Given the description of an element on the screen output the (x, y) to click on. 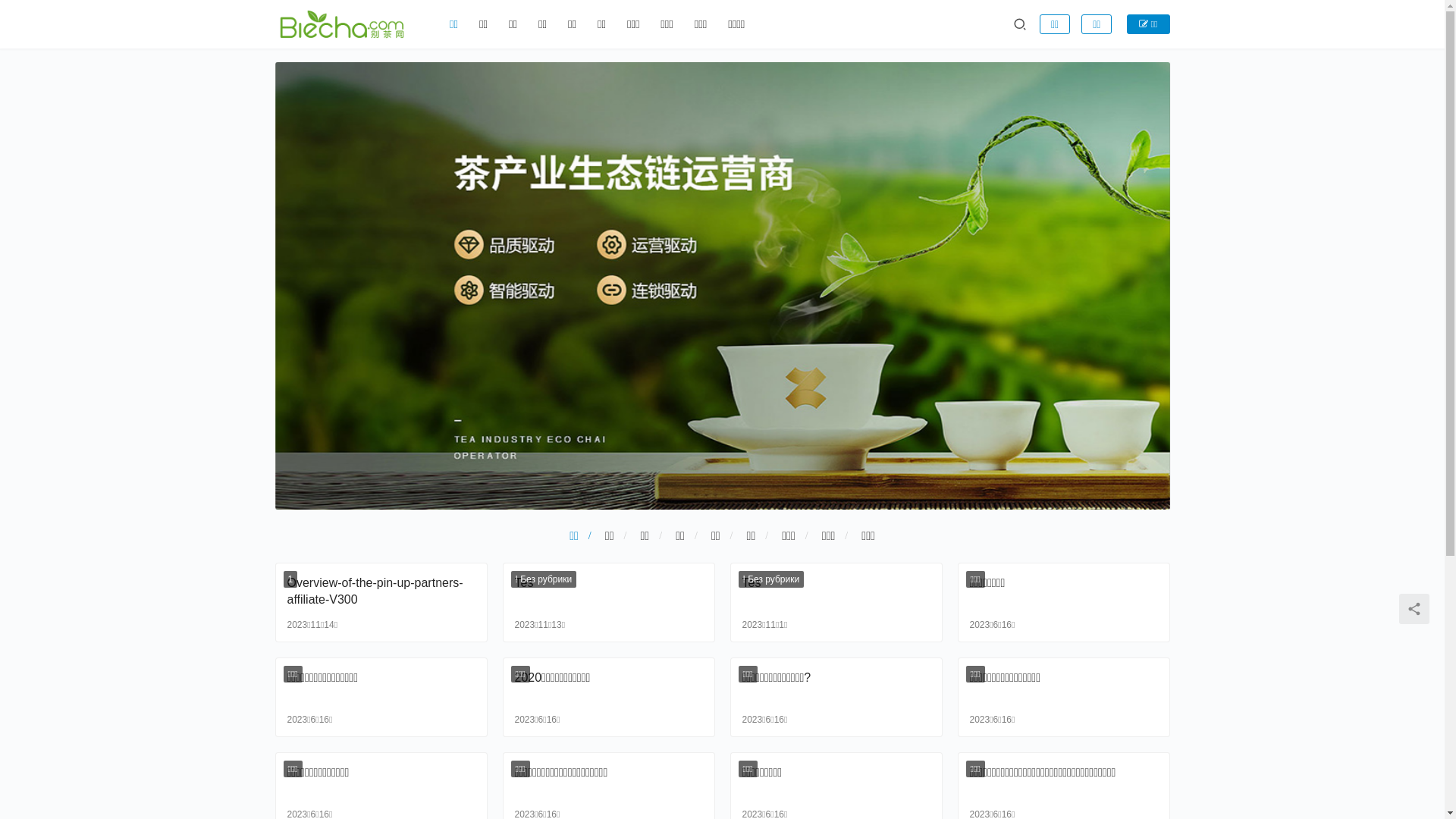
Overview-of-the-pin-up-partners-affiliate-V300 Element type: text (380, 591)
Tes Element type: text (608, 591)
Tes Element type: text (835, 591)
1 Element type: text (290, 579)
